Given the description of an element on the screen output the (x, y) to click on. 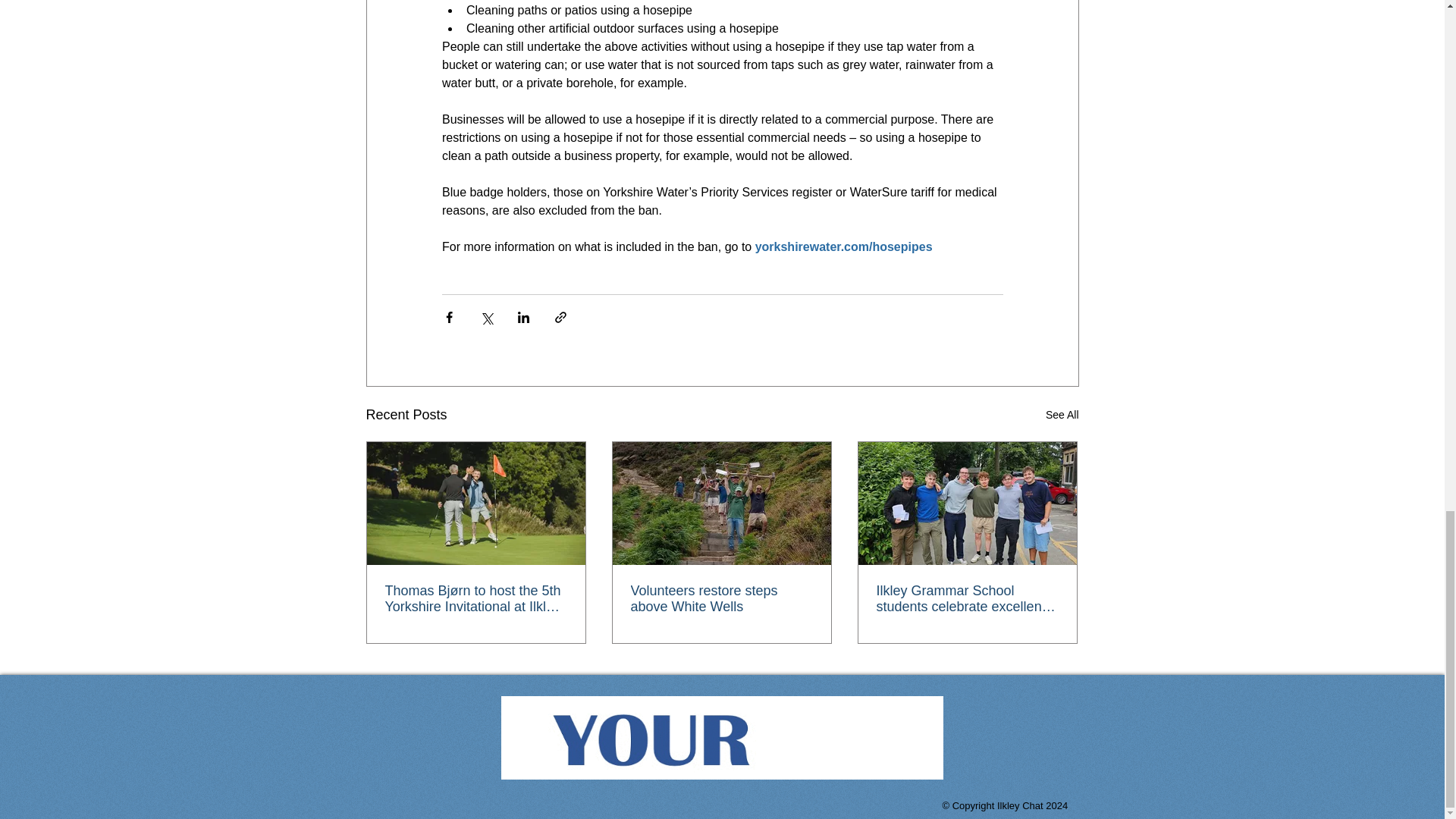
Ilkley Grammar School students celebrate excellent results (967, 599)
Volunteers restore steps above White Wells (721, 599)
See All (1061, 414)
